Given the description of an element on the screen output the (x, y) to click on. 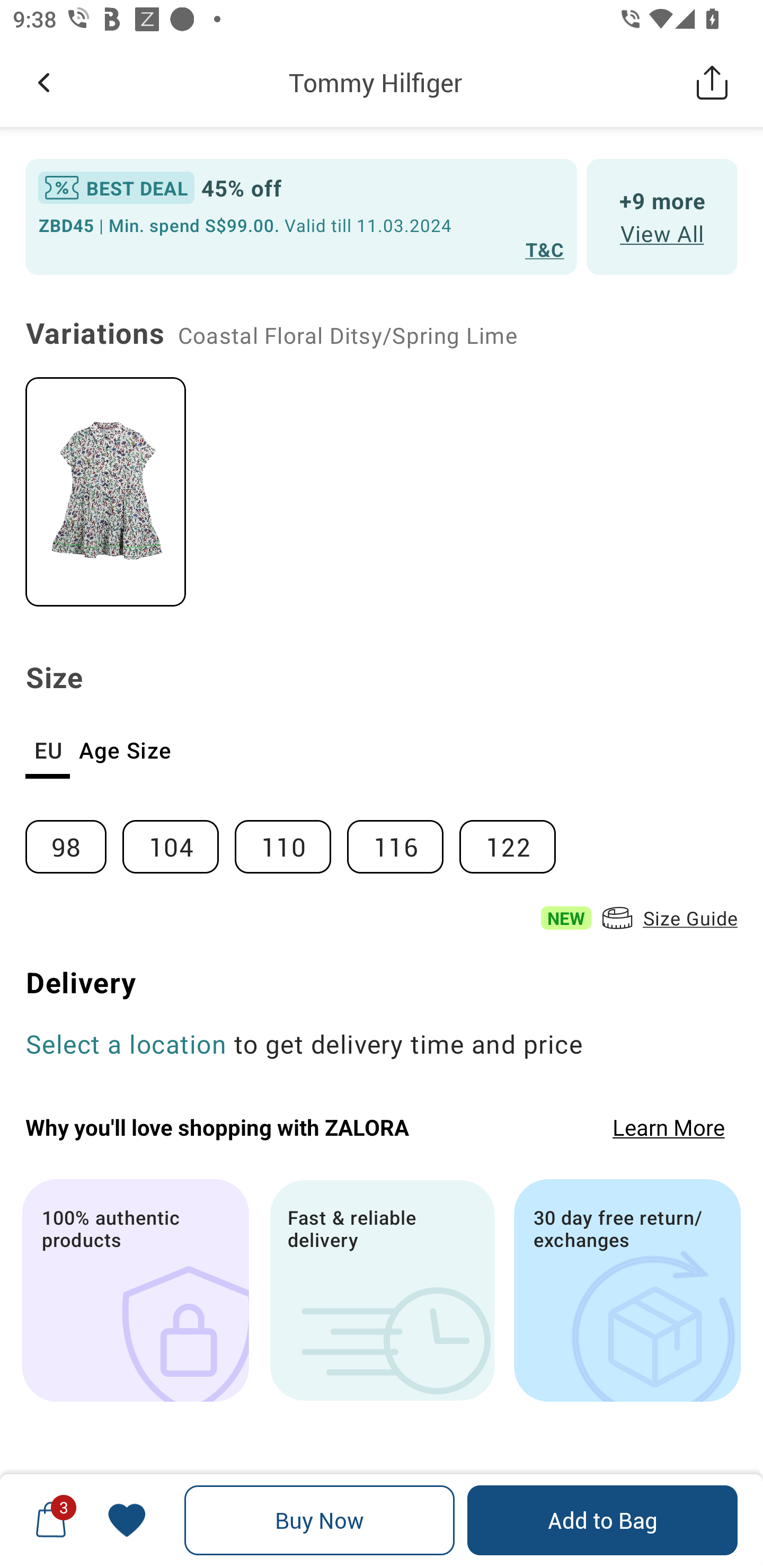
Tommy Hilfiger (375, 82)
Share this Product (711, 82)
+9 more
View All (661, 216)
T&C (544, 248)
Age Size (124, 750)
98 (73, 838)
104 (178, 838)
110 (291, 838)
116 (403, 838)
122 (515, 838)
Size Guide (667, 917)
Learn More (668, 1126)
100% authentic products (135, 1290)
Fast & reliable delivery (381, 1290)
30 day free return/exchanges (627, 1290)
Buy Now (319, 1519)
Add to Bag (601, 1519)
3 (50, 1520)
